Given the description of an element on the screen output the (x, y) to click on. 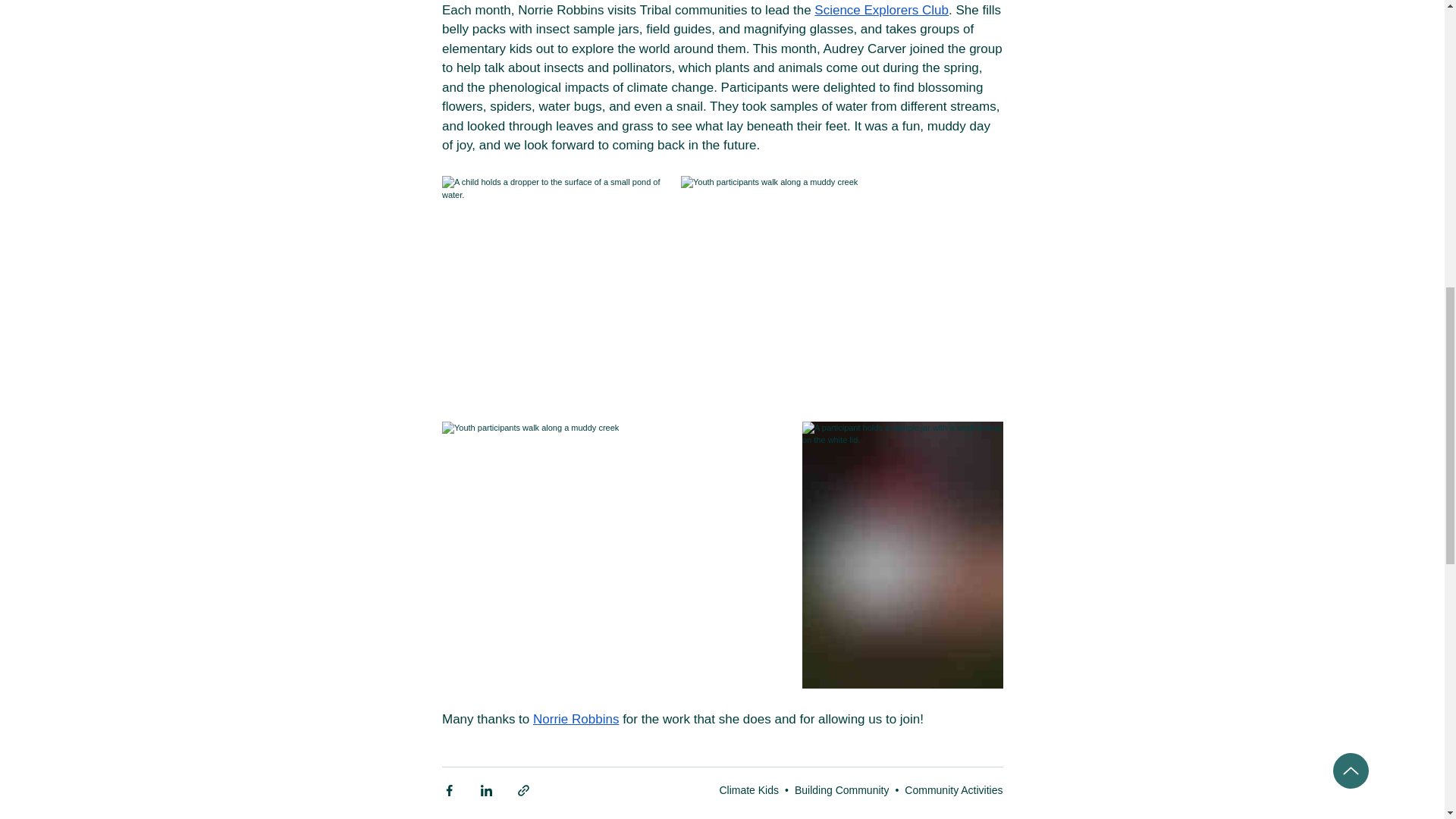
Norrie Robbins (575, 718)
Science Explorers Club (881, 10)
Climate Kids (748, 789)
Building Community (841, 789)
Community Activities (953, 789)
